Given the description of an element on the screen output the (x, y) to click on. 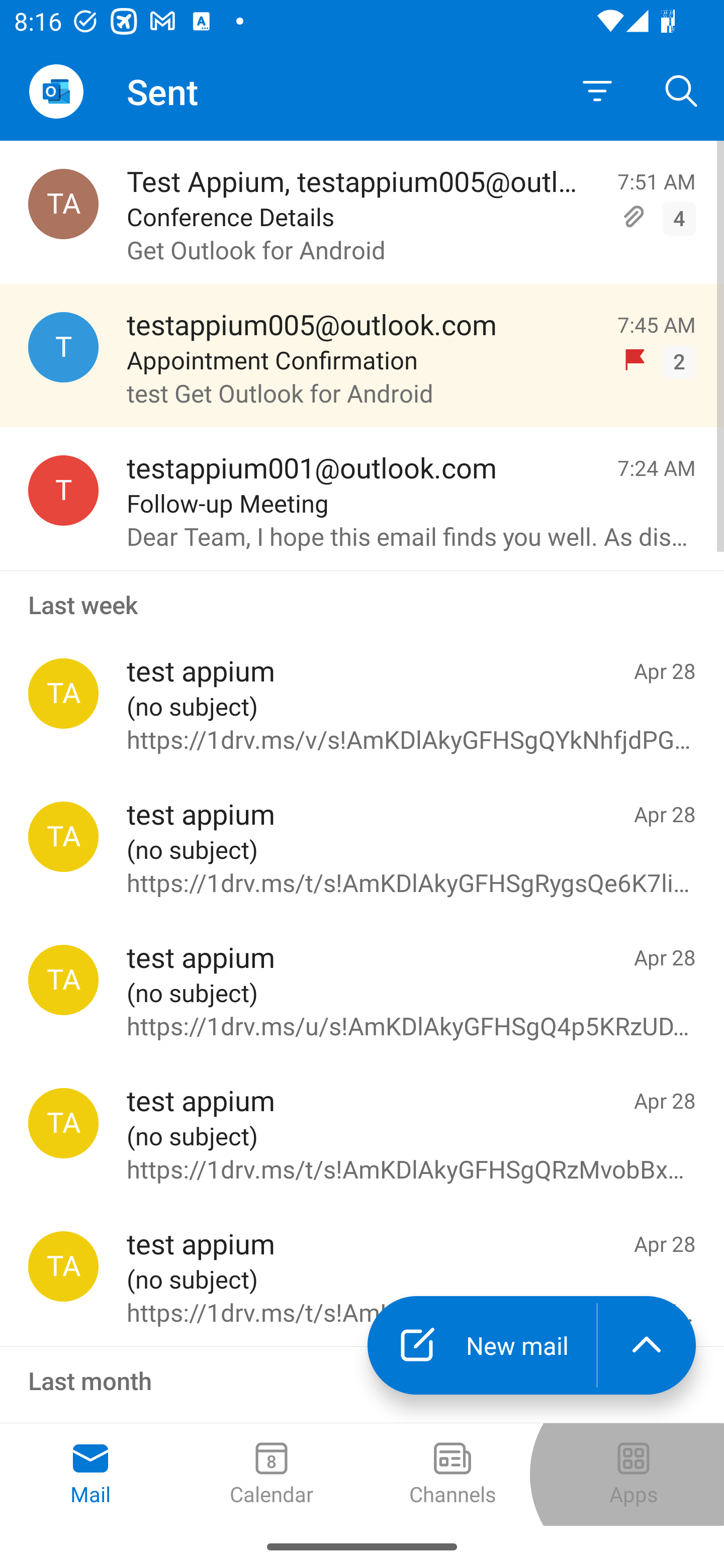
Search, ,  (681, 90)
Open Navigation Drawer (55, 91)
Filter (597, 91)
Test Appium, testappium002@outlook.com (63, 204)
test appium, testappium002@gmail.com (63, 693)
test appium, testappium002@gmail.com (63, 836)
test appium, testappium002@gmail.com (63, 979)
test appium, testappium002@gmail.com (63, 1123)
test appium, testappium002@gmail.com (63, 1265)
New mail (481, 1344)
launch the extended action menu (646, 1344)
Calendar (271, 1474)
Channels (452, 1474)
Apps (633, 1474)
